Given the description of an element on the screen output the (x, y) to click on. 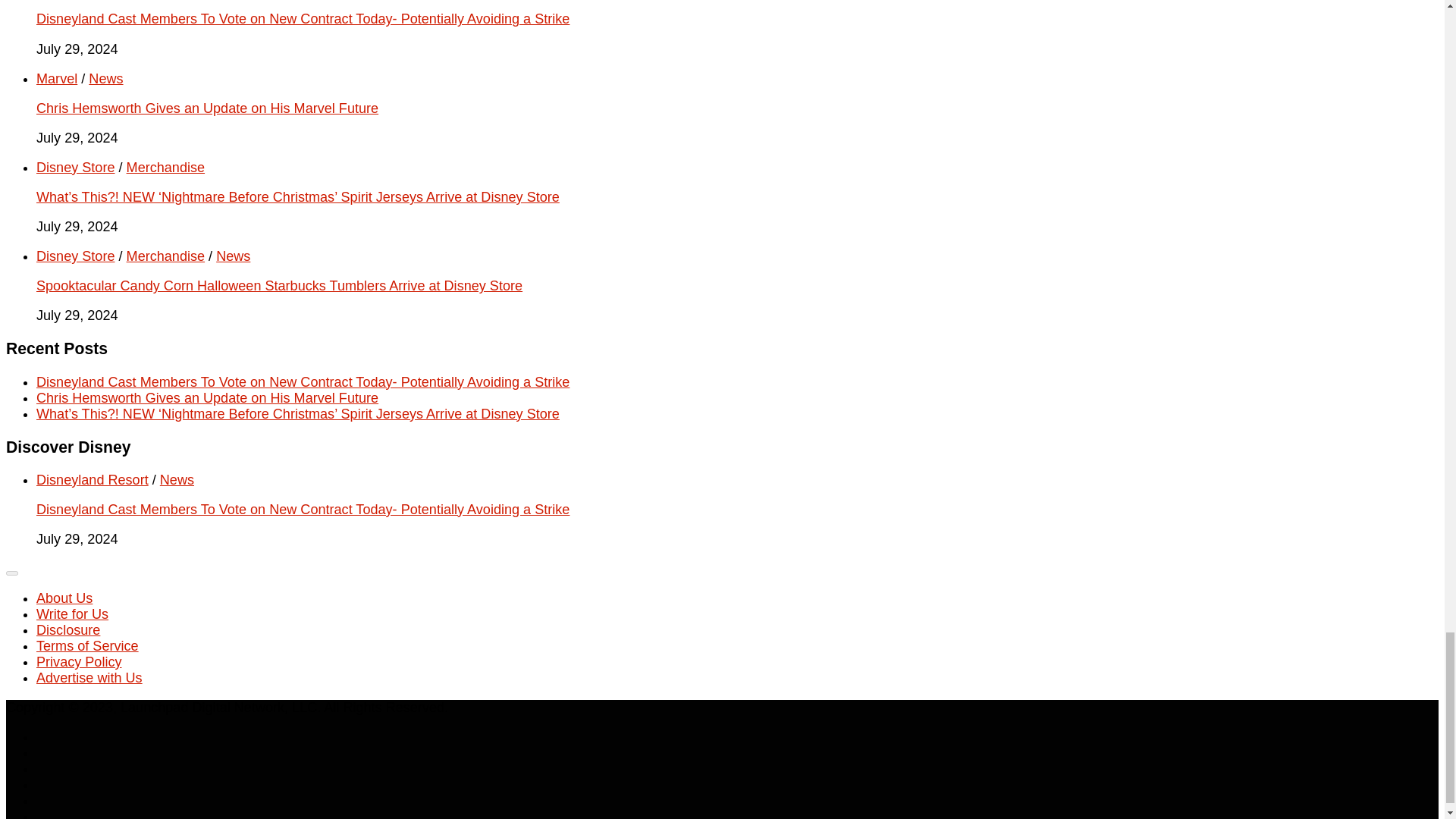
Menu (11, 572)
